Given the description of an element on the screen output the (x, y) to click on. 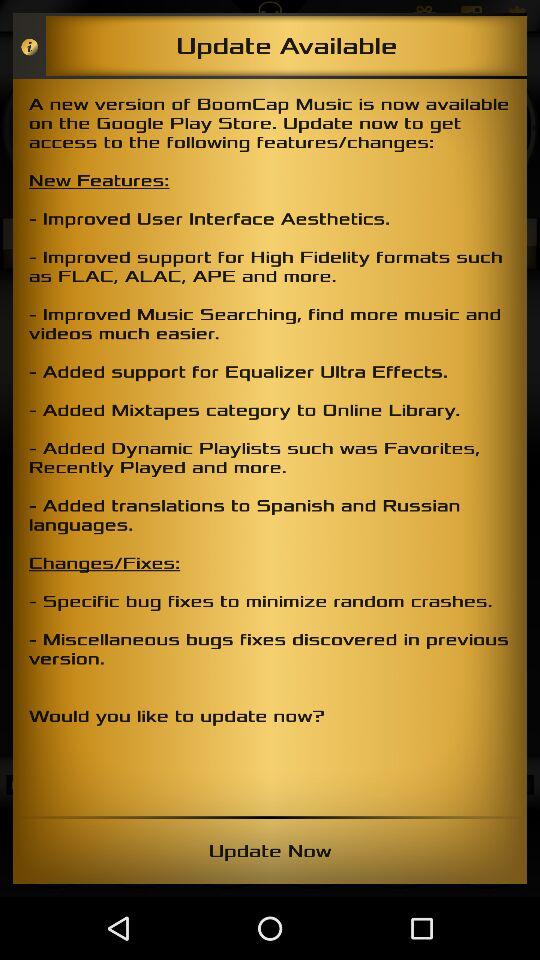
select the a new version (269, 447)
